Given the description of an element on the screen output the (x, y) to click on. 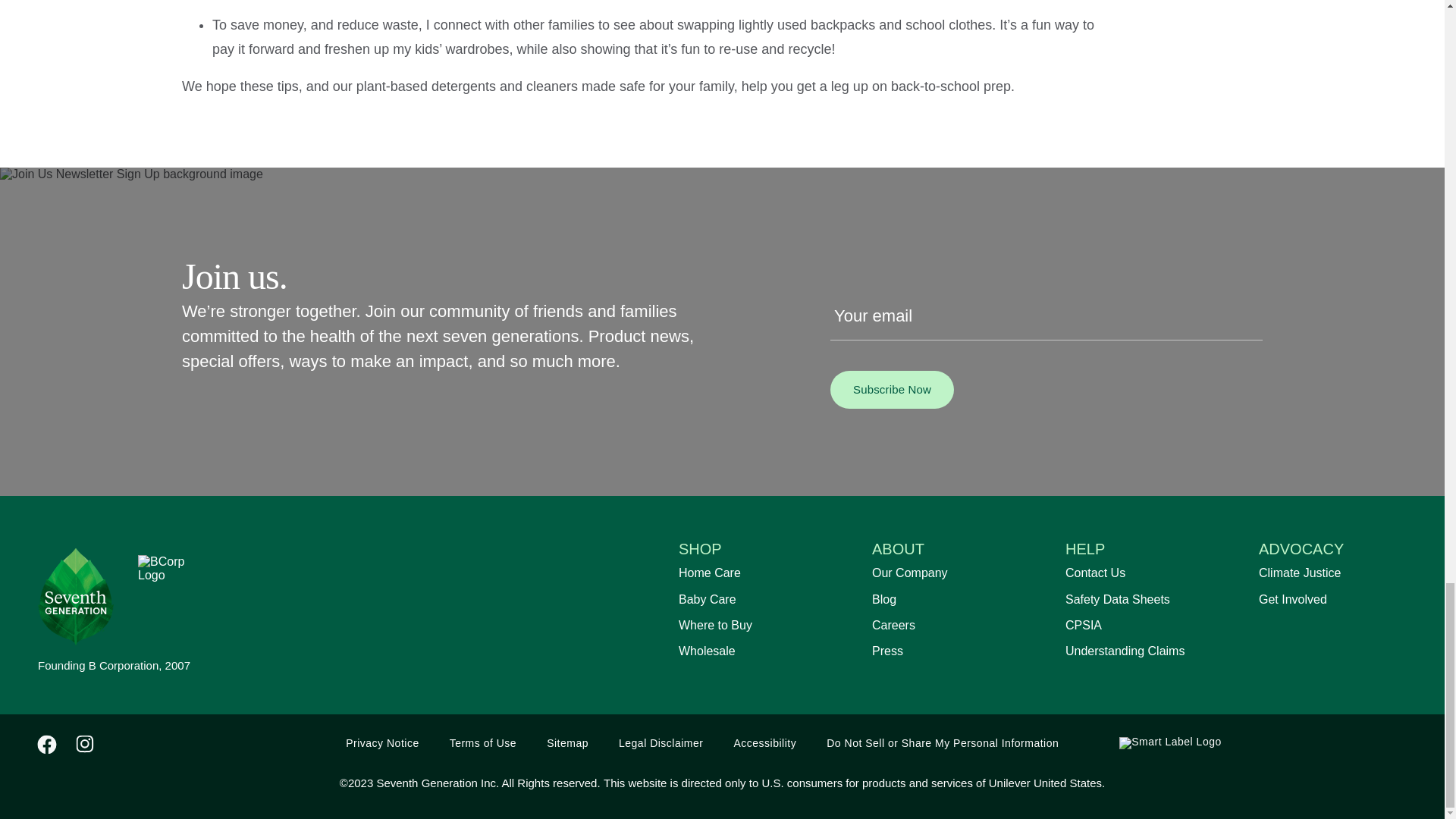
Subscribe Now (891, 389)
